Given the description of an element on the screen output the (x, y) to click on. 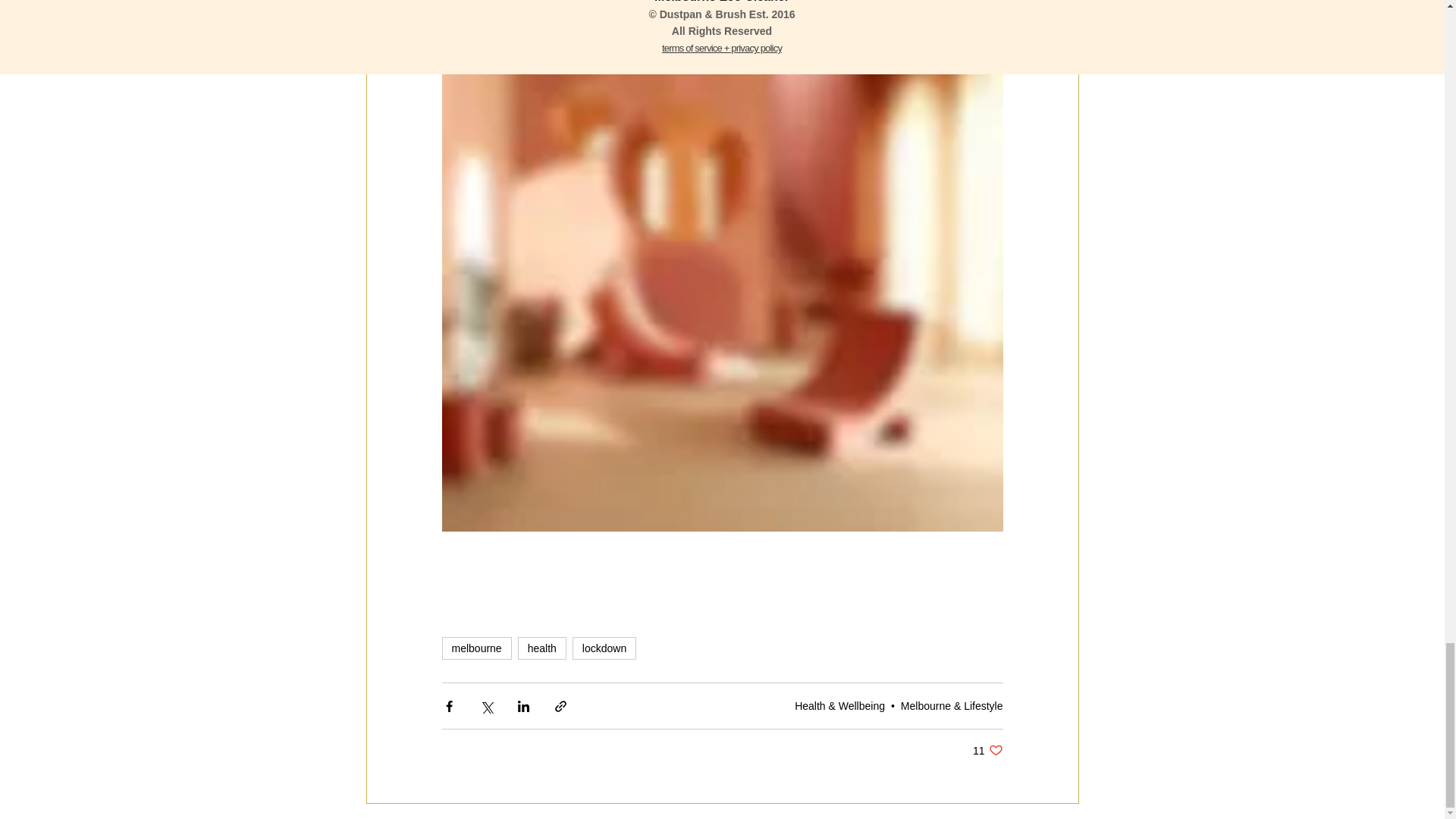
lockdown (604, 648)
health (542, 648)
melbourne (987, 749)
